Given the description of an element on the screen output the (x, y) to click on. 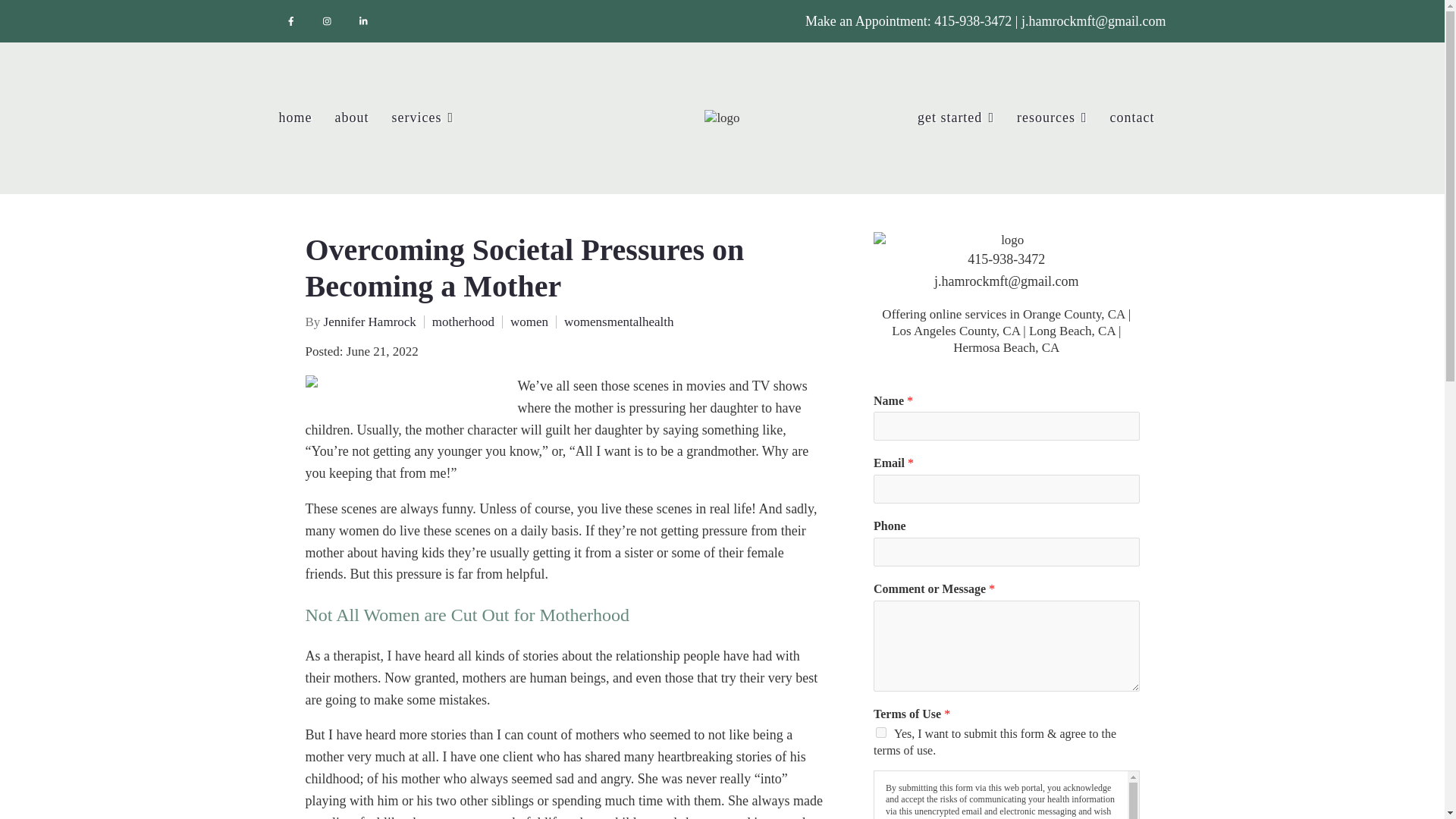
get started (955, 117)
415-938-3472 (974, 20)
about (351, 117)
home (296, 117)
Posts by Jennifer Hamrock (369, 321)
services (421, 117)
